Given the description of an element on the screen output the (x, y) to click on. 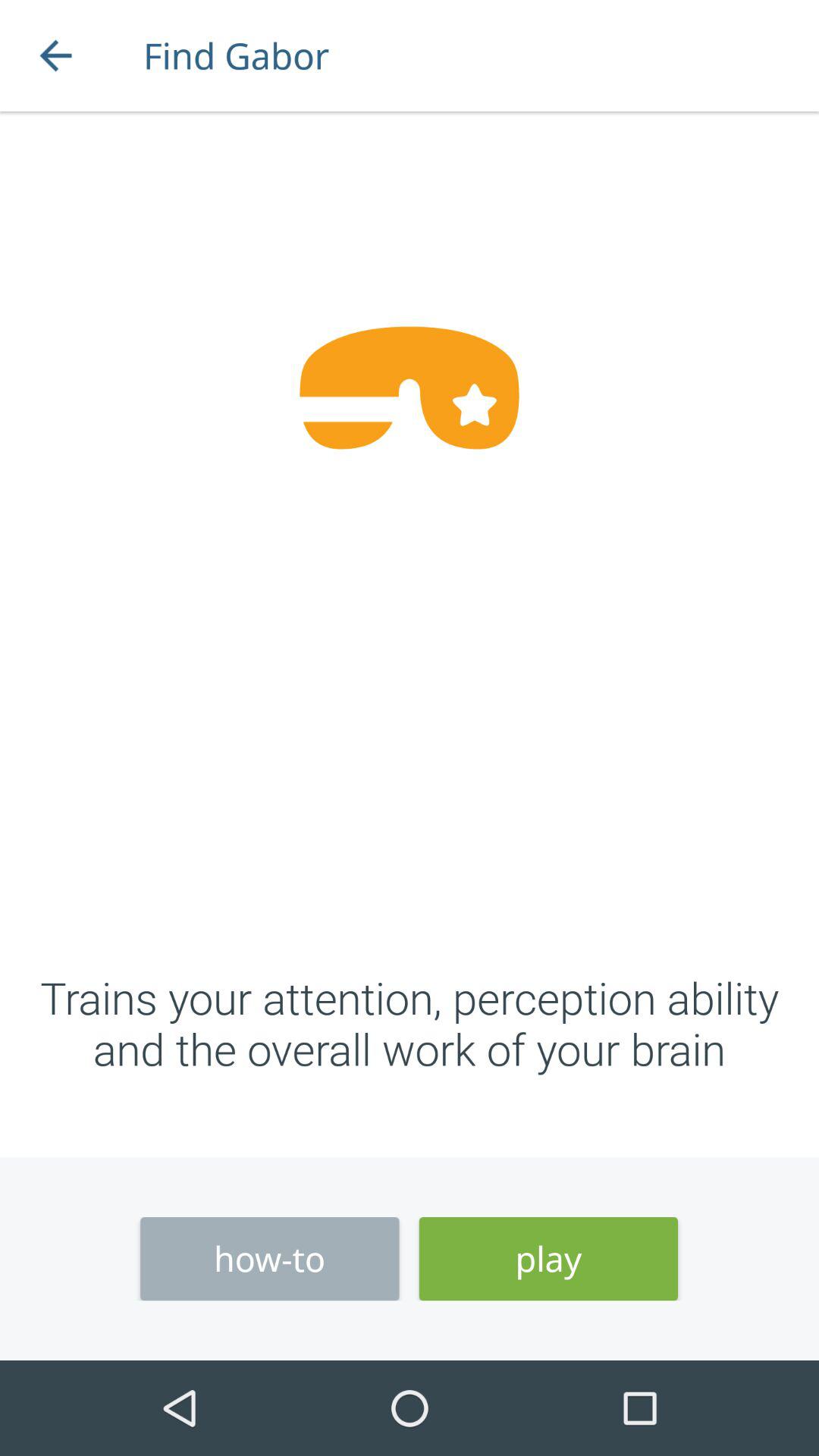
click the icon next to play item (269, 1258)
